Given the description of an element on the screen output the (x, y) to click on. 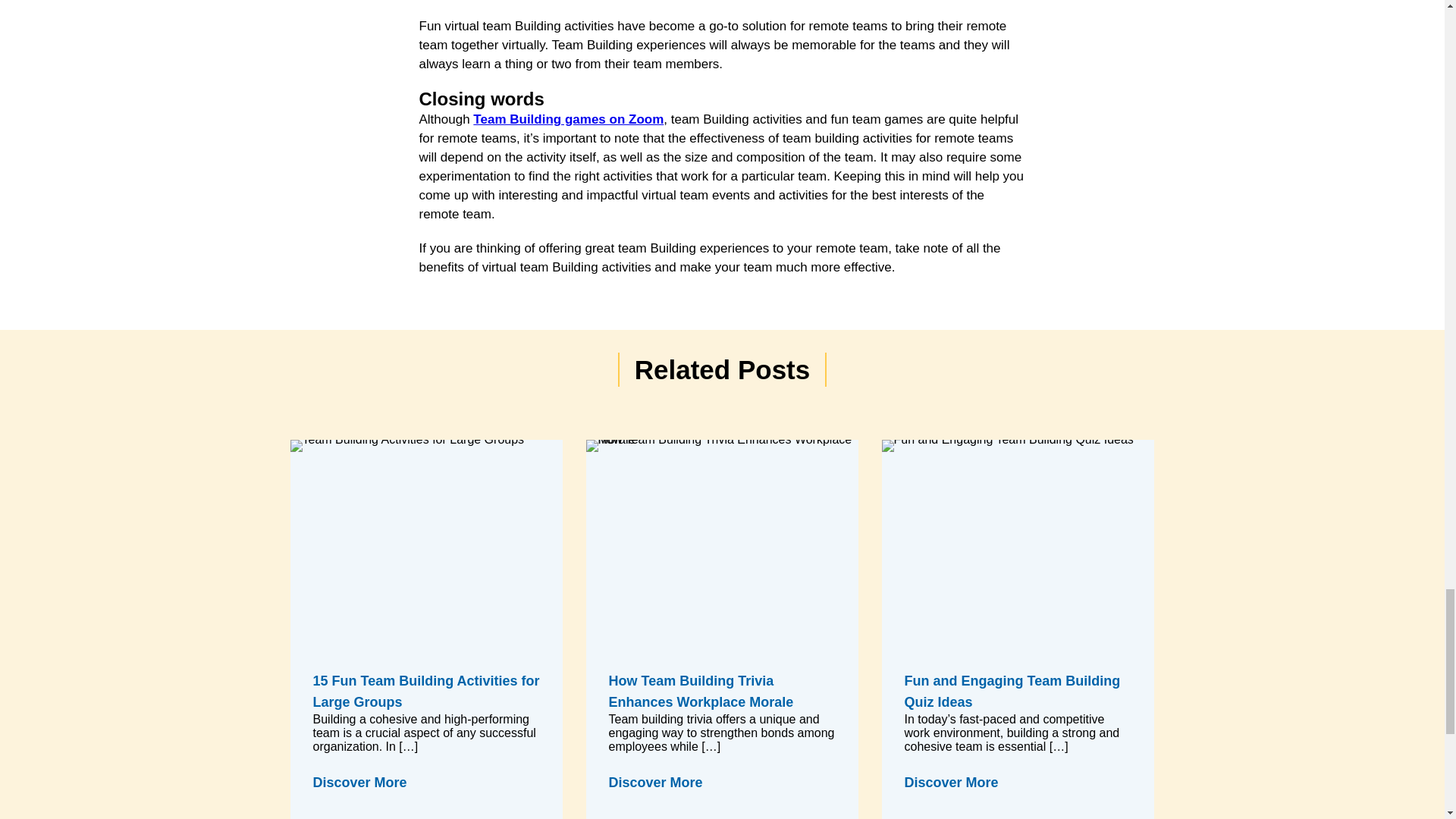
Discover More (950, 782)
How Team Building Trivia Enhances Workplace Morale (721, 691)
Team Building games on Zoom (568, 119)
Discover More (359, 782)
Discover More (654, 782)
15 Fun Team Building Activities for Large Groups (426, 691)
Fun and Engaging Team Building Quiz Ideas (1017, 691)
